Given the description of an element on the screen output the (x, y) to click on. 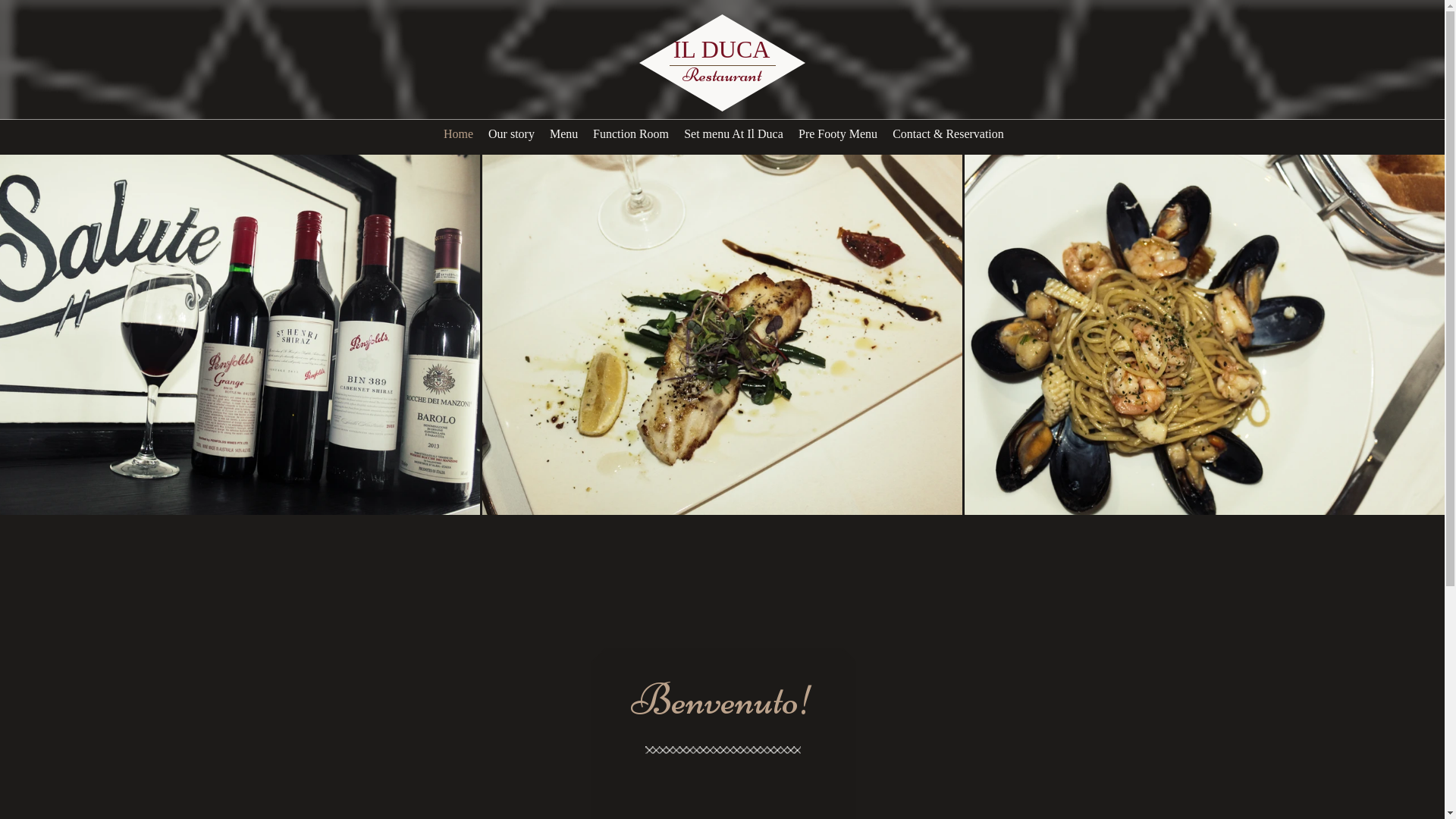
Our story Element type: text (511, 133)
Menu Element type: text (563, 133)
Pre Footy Menu Element type: text (837, 133)
Home Element type: text (458, 133)
Set menu At Il Duca Element type: text (733, 133)
IL DUCA Element type: text (721, 48)
Restaurant Element type: text (721, 74)
Function Room Element type: text (630, 133)
